Given the description of an element on the screen output the (x, y) to click on. 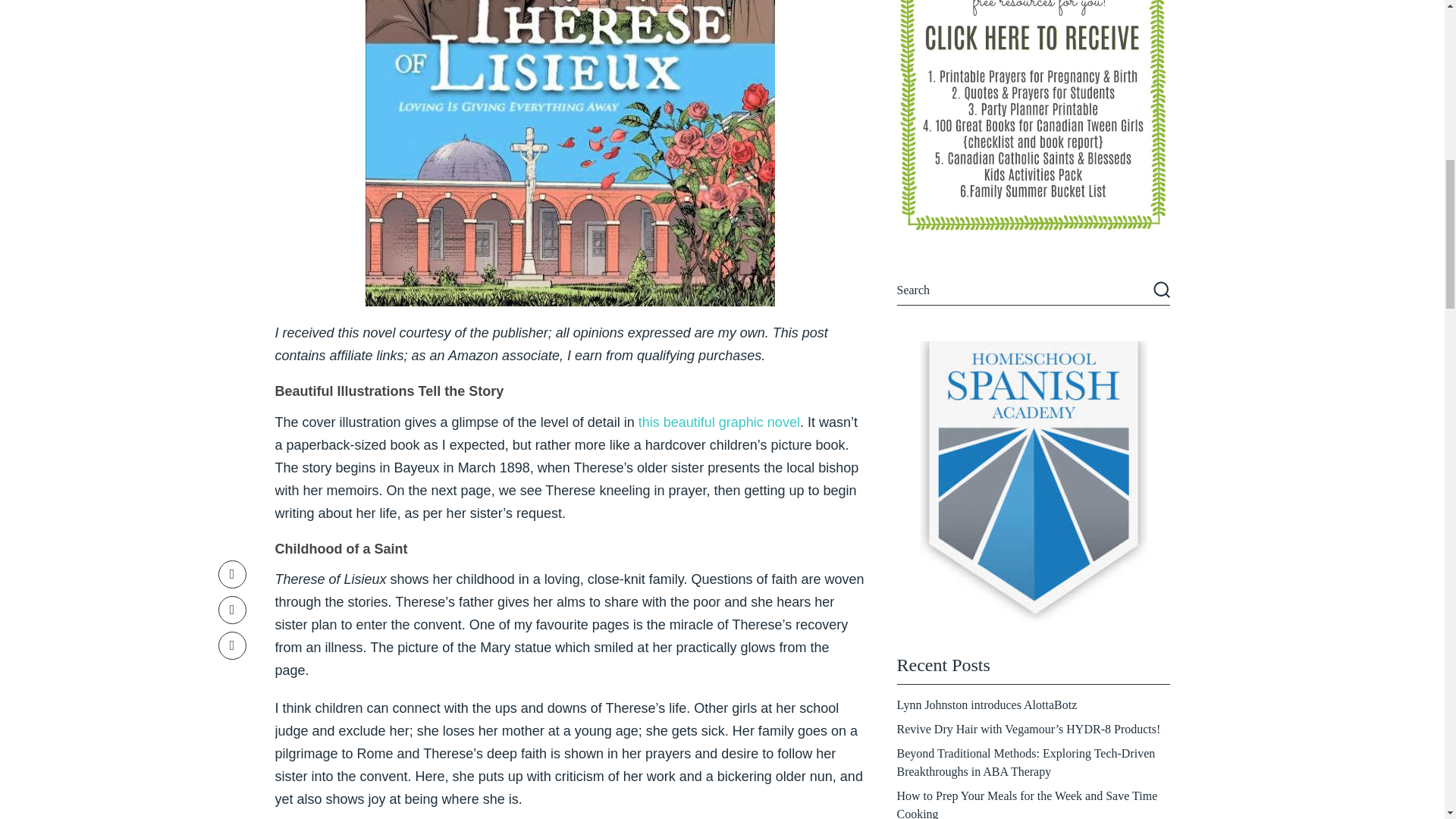
free resources for subscribers! (1032, 117)
